Given the description of an element on the screen output the (x, y) to click on. 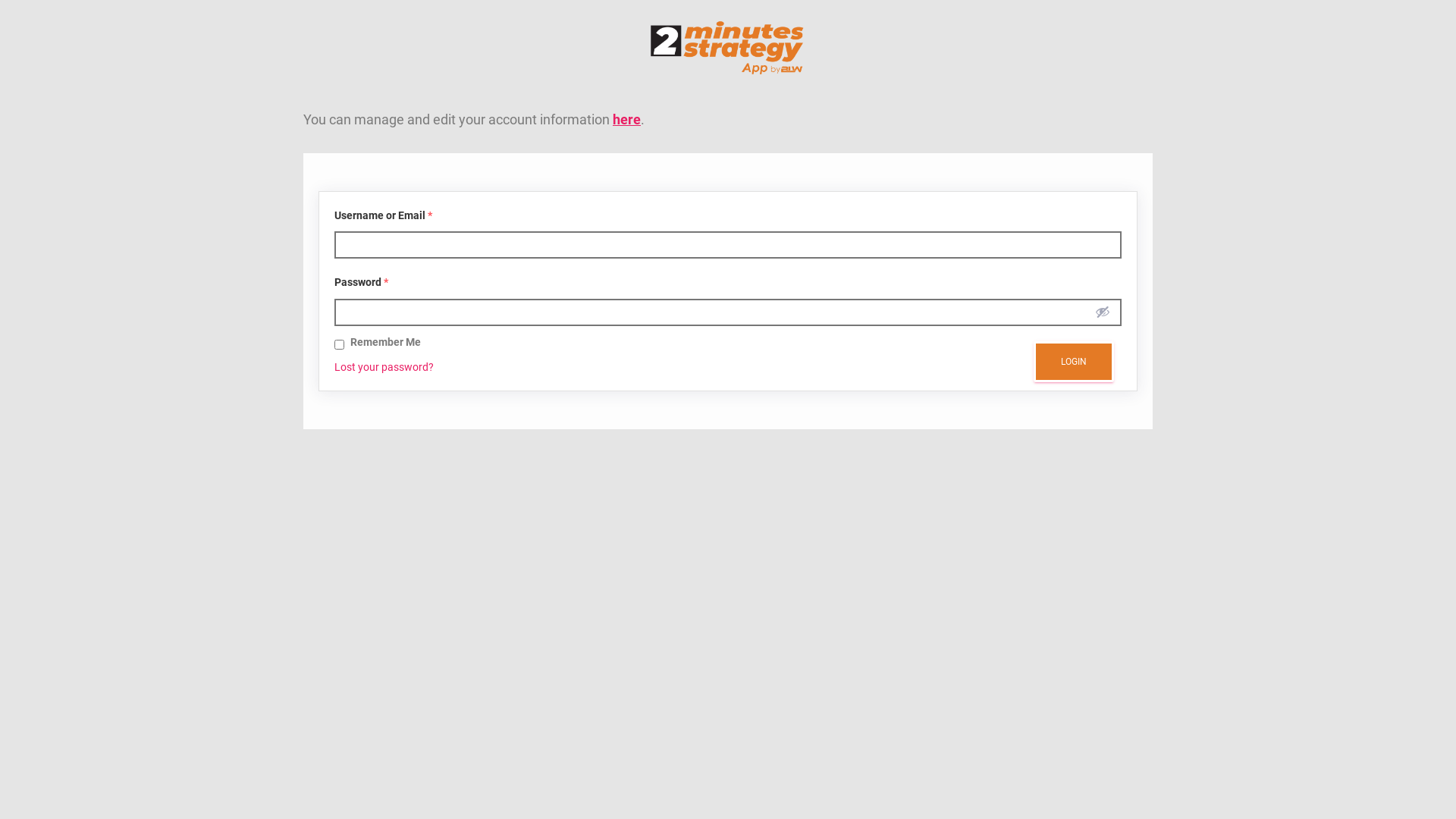
here Element type: text (626, 118)
Login Element type: text (1073, 361)
Lost your password? Element type: text (383, 366)
Show password Element type: hover (1102, 311)
